Given the description of an element on the screen output the (x, y) to click on. 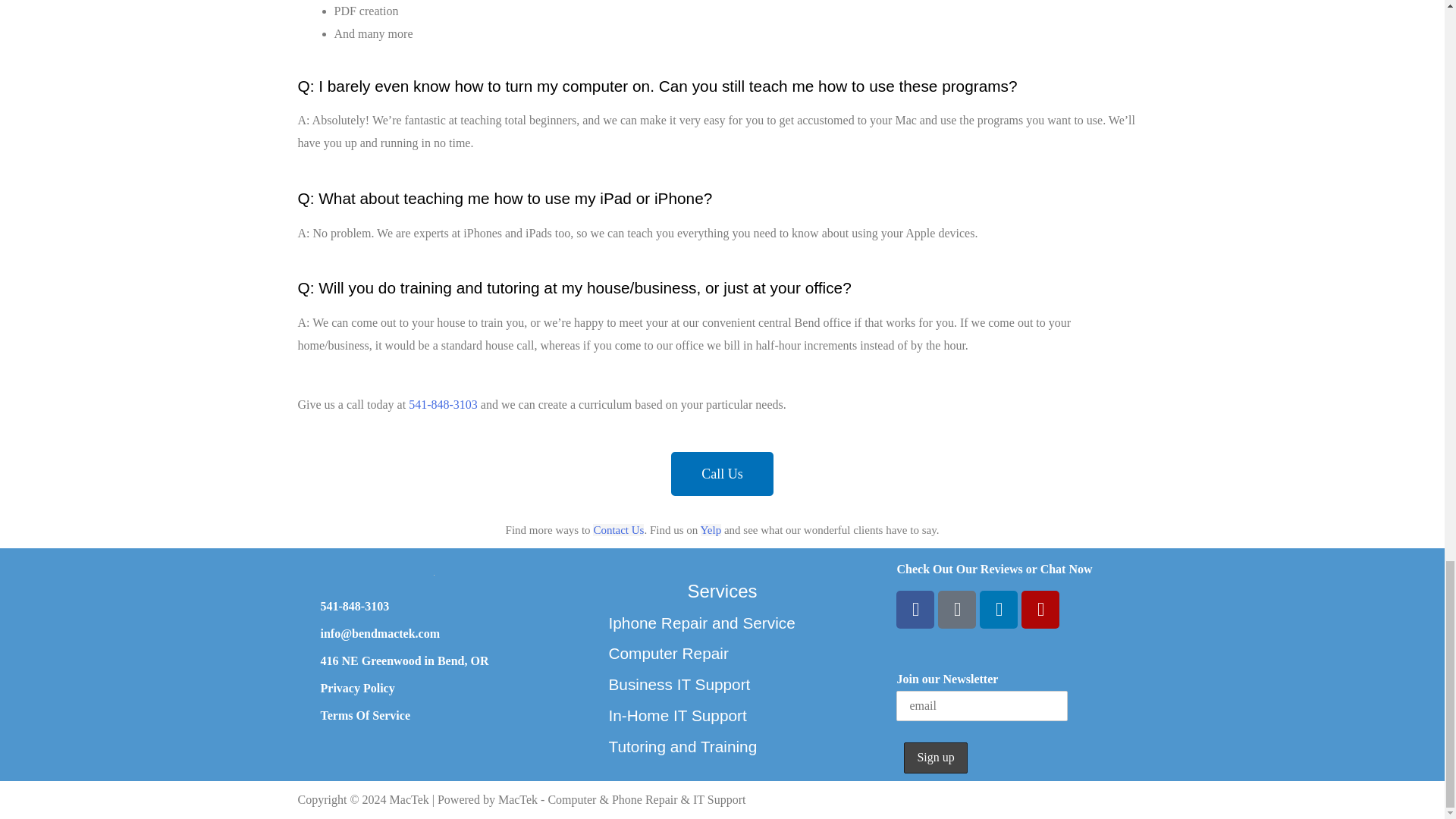
Linkedin (998, 609)
Sign up (935, 757)
Contact Us (617, 530)
Business IT Support (678, 683)
Computer Repair (668, 652)
Sign up (935, 757)
Privacy Policy (357, 687)
541-848-3103 (354, 605)
416 NE Greenwood in Bend, OR (403, 660)
Tutoring and Training (682, 746)
Iphone Repair and Service (701, 622)
Terms Of Service (364, 715)
Yelp (1040, 609)
Yelp (711, 530)
